Given the description of an element on the screen output the (x, y) to click on. 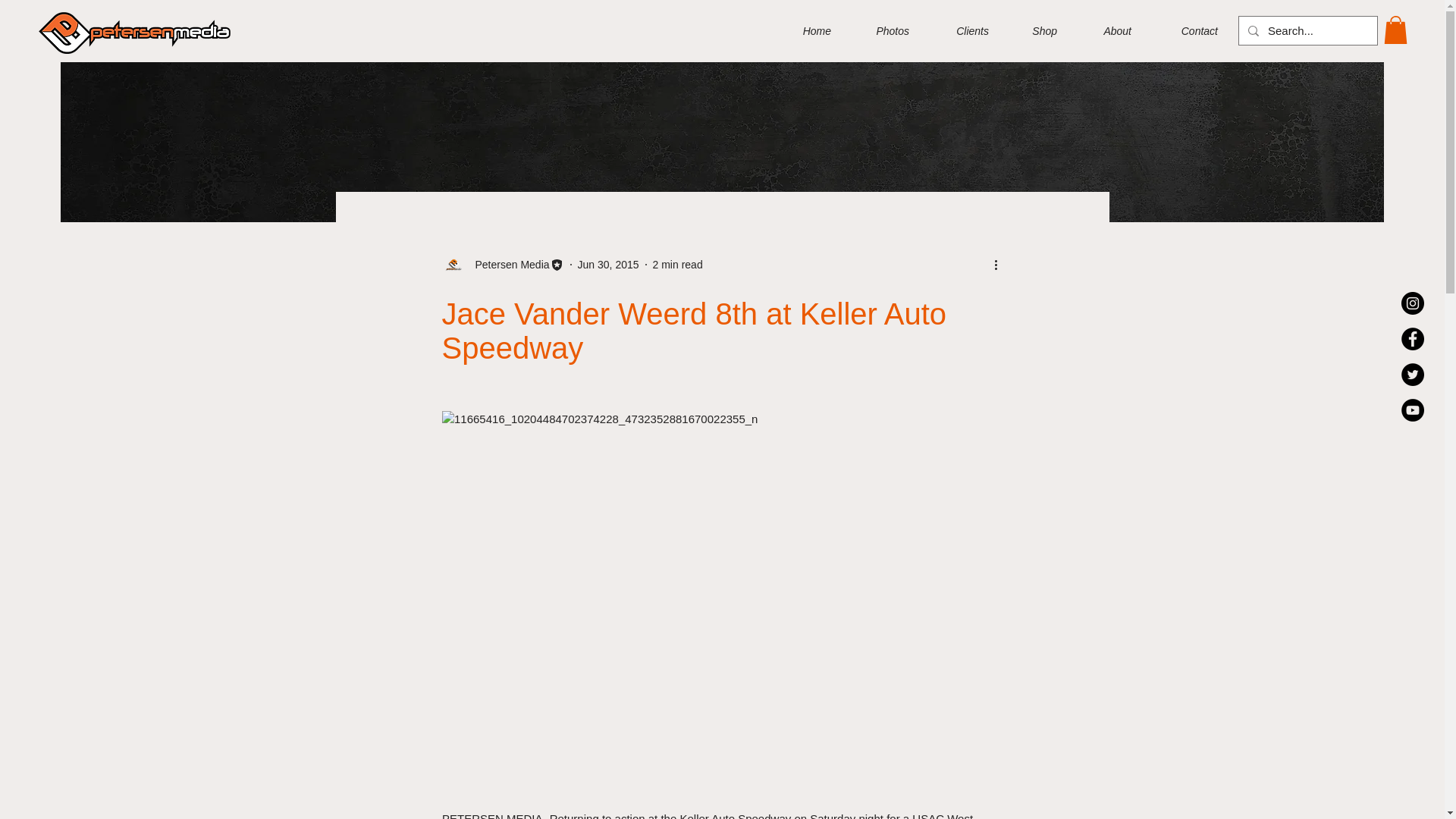
Jun 30, 2015 (608, 263)
Clients (960, 30)
Petersen Media (506, 263)
About (1105, 30)
Shop (1034, 30)
Contact (1185, 30)
Petersen Media (502, 264)
2 min read (677, 263)
Photos (881, 30)
Home (805, 30)
